Given the description of an element on the screen output the (x, y) to click on. 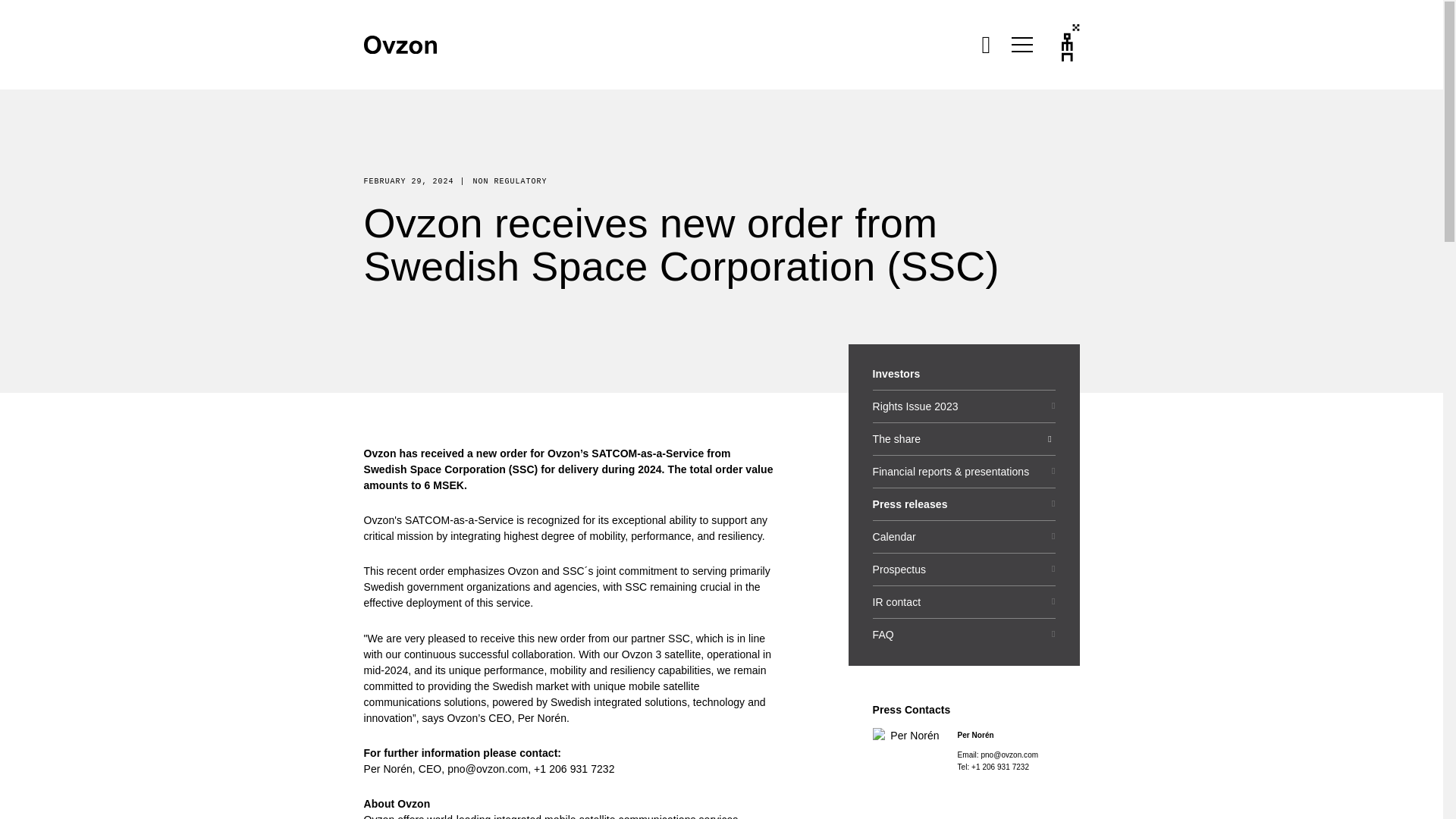
Ovzon logo (400, 45)
Ovzon logo (400, 45)
